Given the description of an element on the screen output the (x, y) to click on. 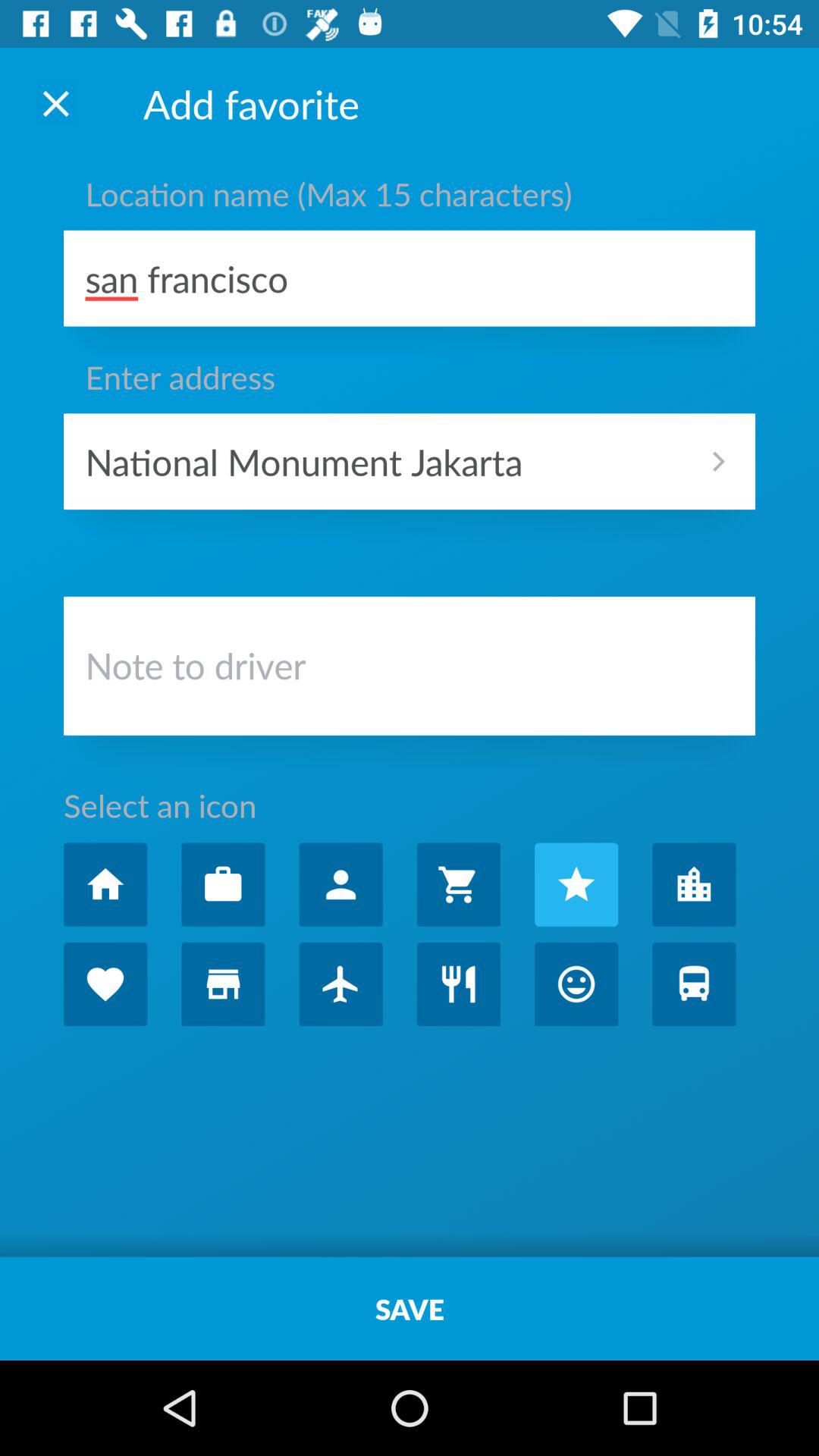
cancel button (55, 103)
